Given the description of an element on the screen output the (x, y) to click on. 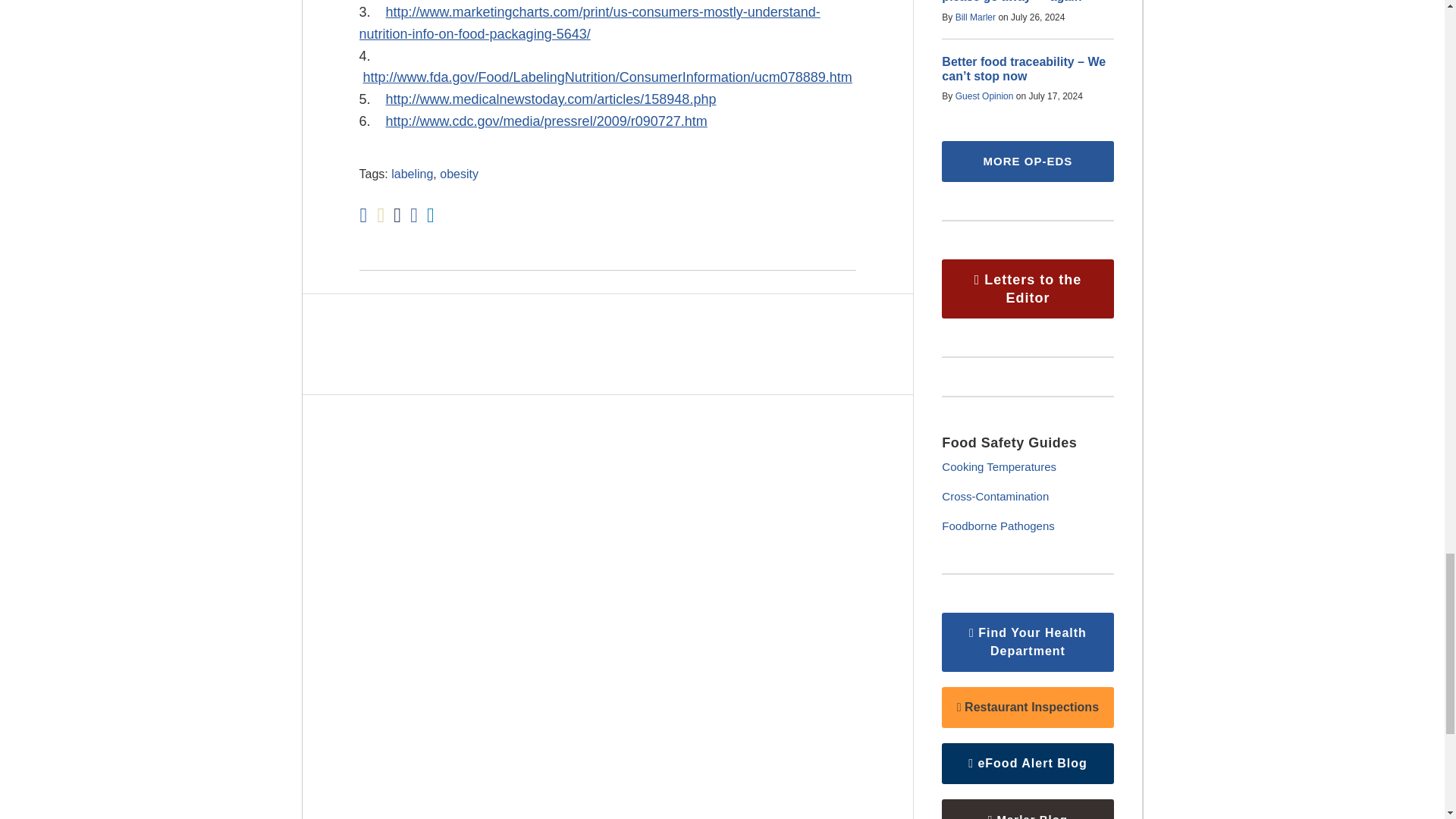
obesity (459, 173)
labeling (411, 173)
